Given the description of an element on the screen output the (x, y) to click on. 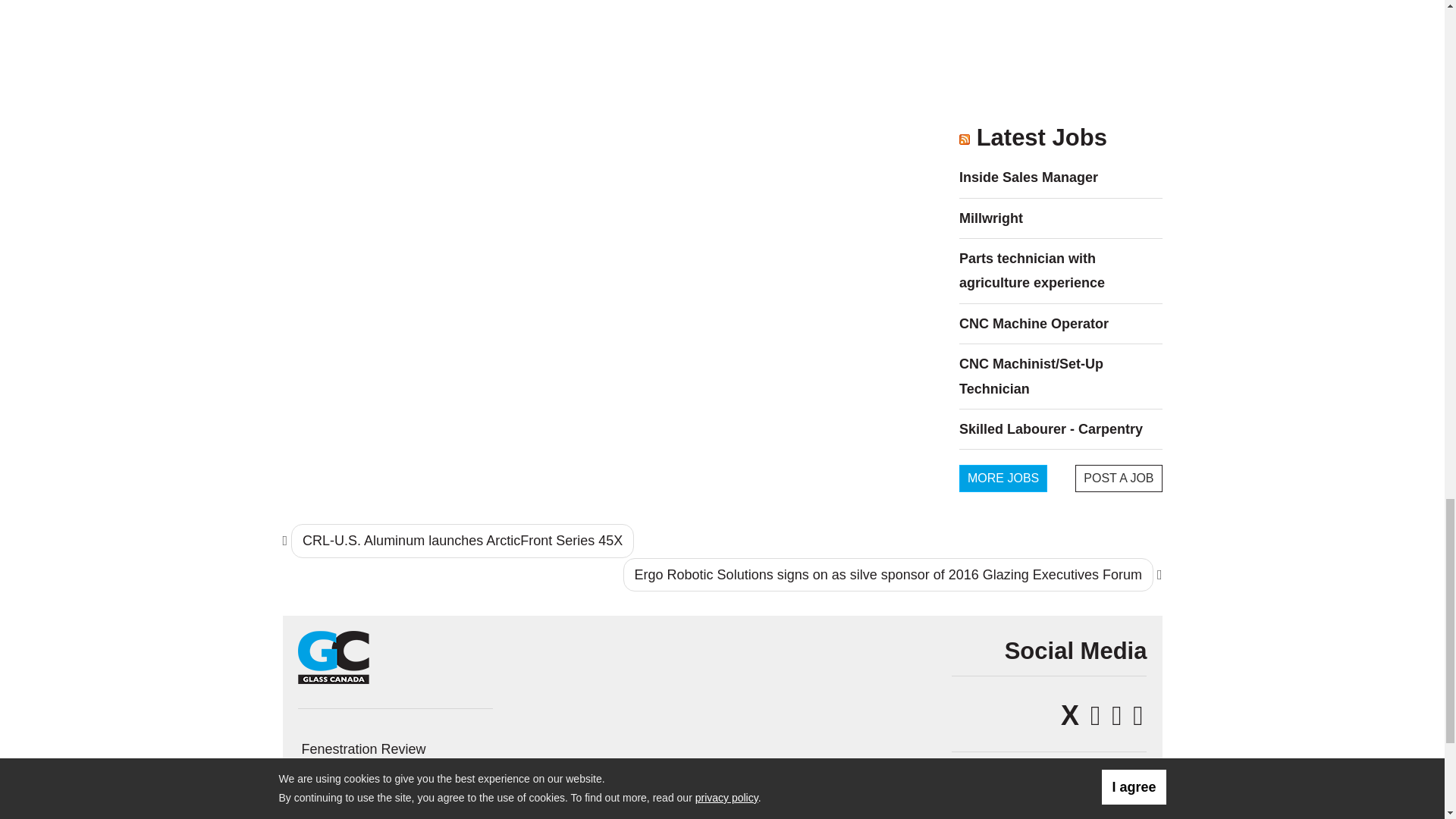
3rd party ad content (1060, 56)
Glass Canada (333, 656)
